Given the description of an element on the screen output the (x, y) to click on. 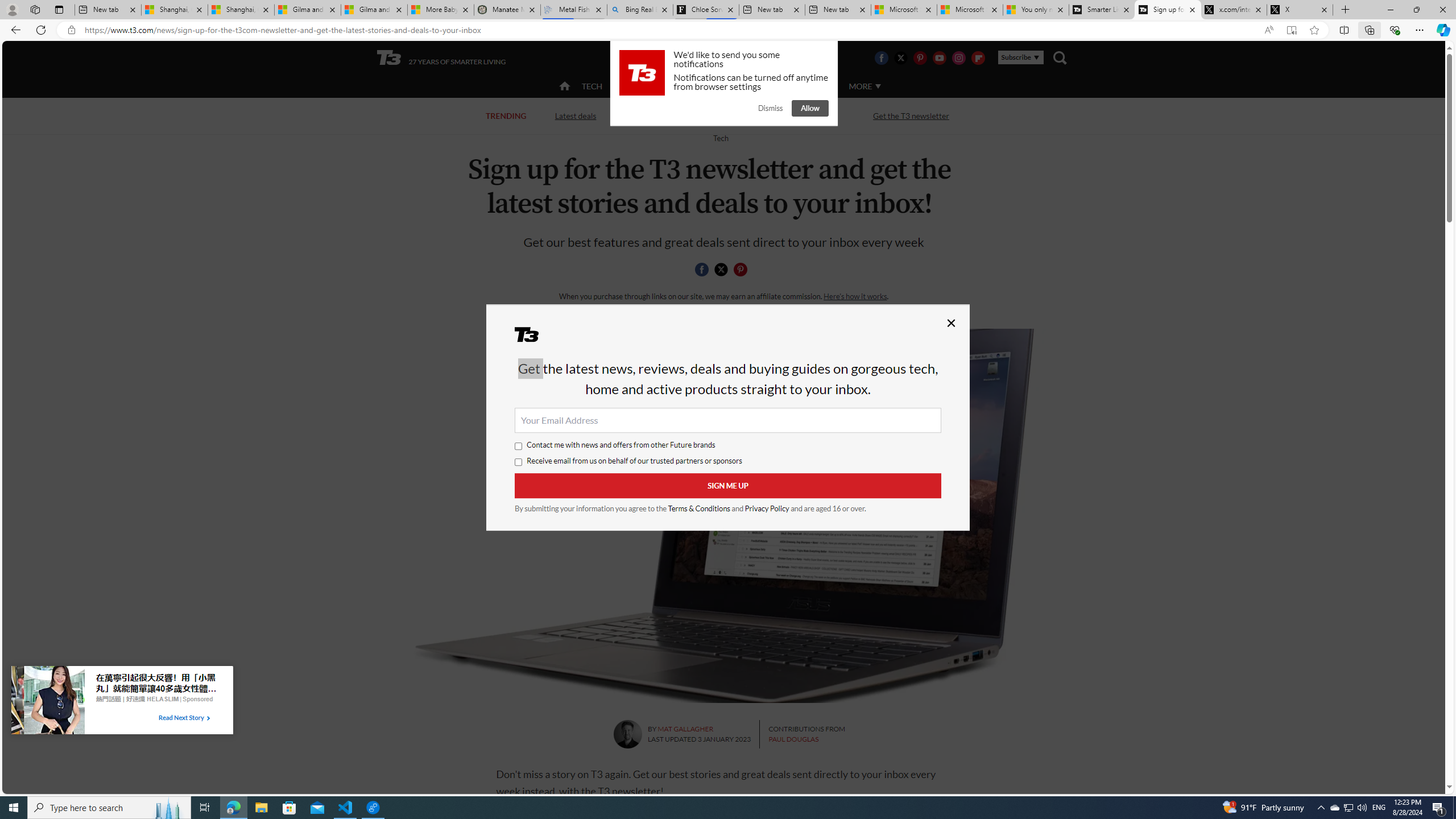
TECH (591, 86)
Chloe Sorvino (706, 9)
Terms & Conditions (699, 508)
t3.com Logo (641, 72)
Image for Taboola Advertising Unit (47, 702)
Privacy Policy (766, 508)
Get the T3 newsletter (911, 115)
